Given the description of an element on the screen output the (x, y) to click on. 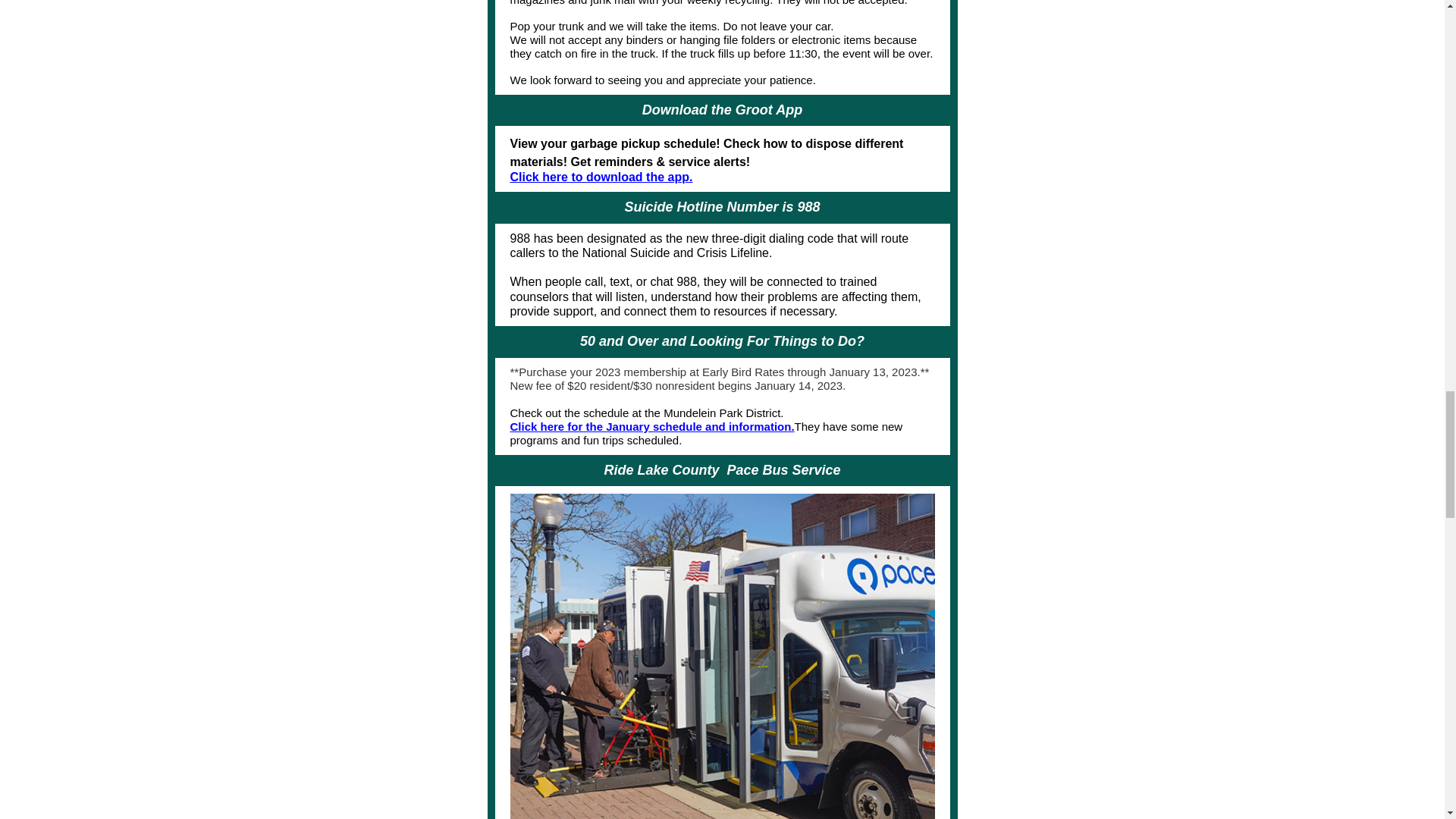
Click here to download the app. (601, 176)
Click here for the January schedule and information. (651, 426)
